Given the description of an element on the screen output the (x, y) to click on. 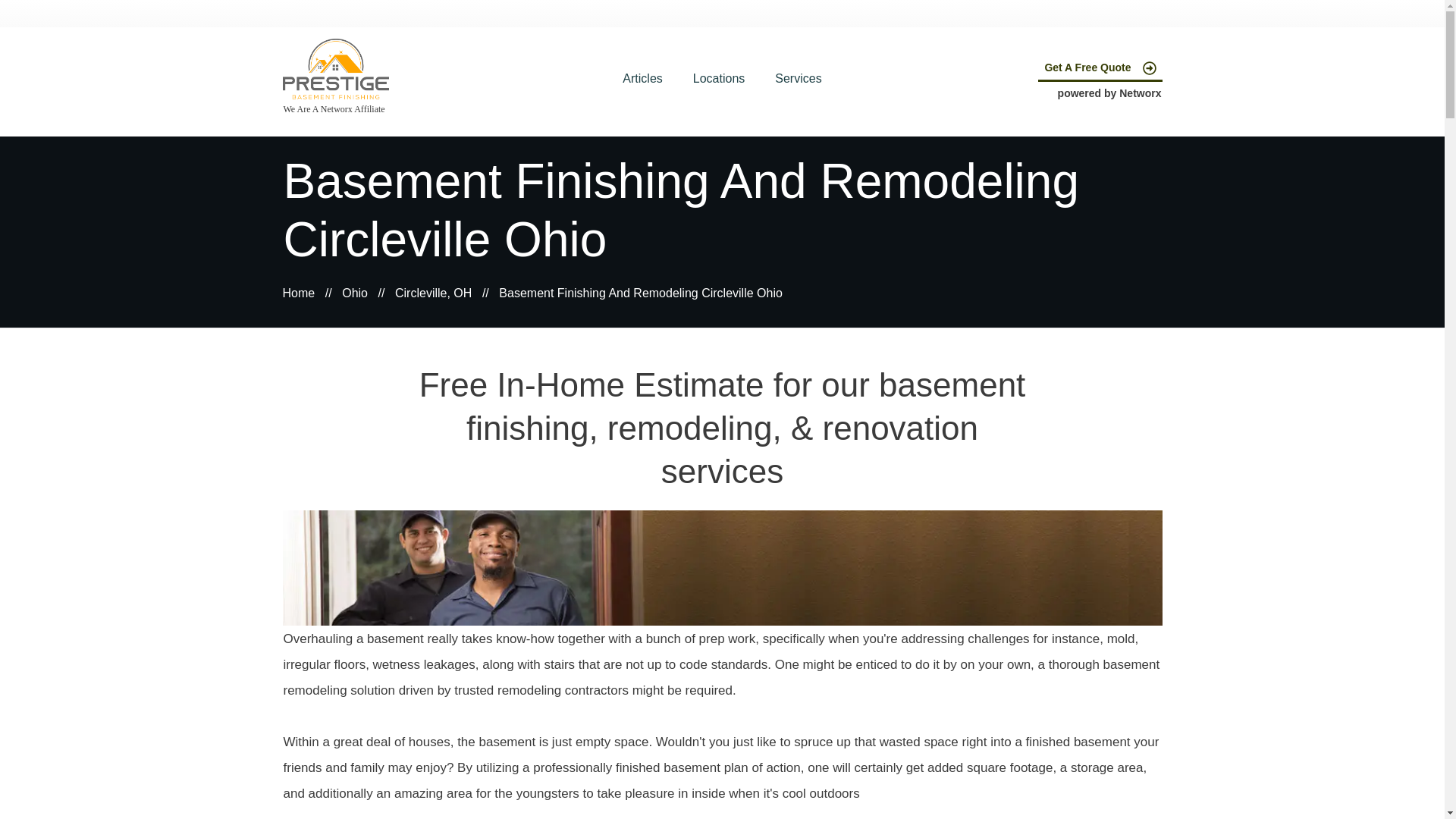
Locations (719, 78)
Circleville, OH (432, 293)
Home (298, 293)
Get A Free Quote (1099, 68)
Services (797, 78)
Articles (642, 78)
Ohio (355, 293)
